Given the description of an element on the screen output the (x, y) to click on. 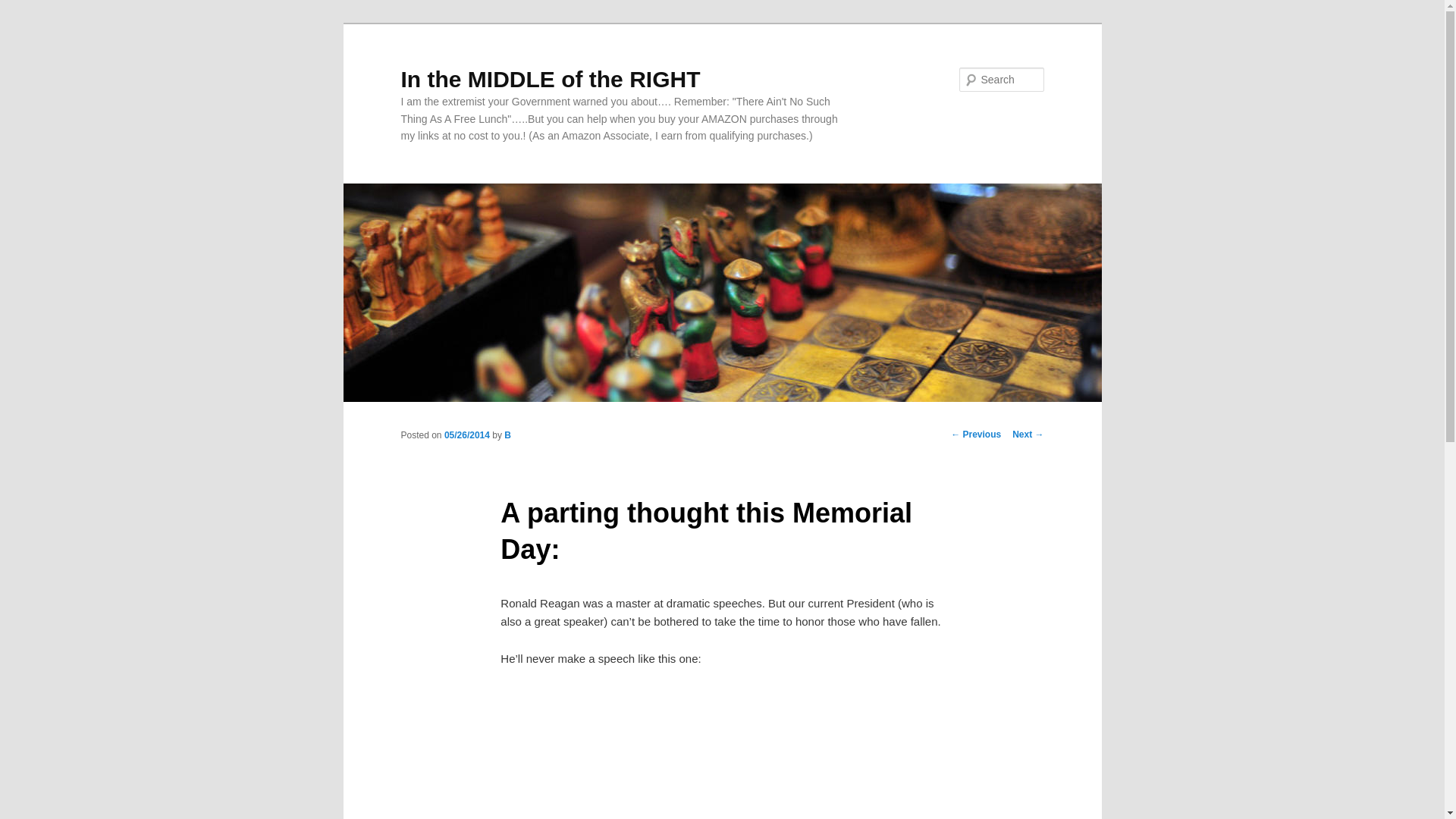
In the MIDDLE of the RIGHT (550, 78)
22:01 (466, 434)
Search (24, 8)
